Given the description of an element on the screen output the (x, y) to click on. 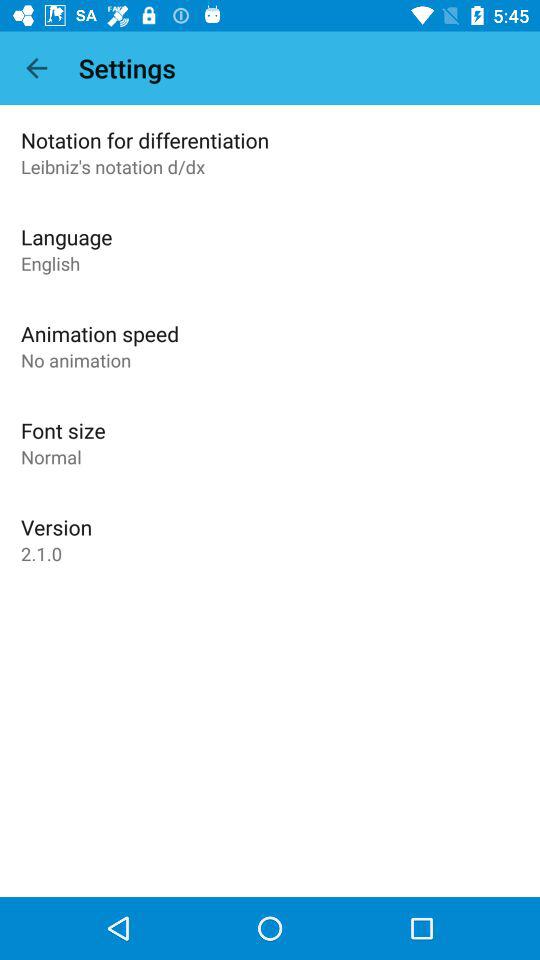
swipe to the font size item (63, 430)
